Given the description of an element on the screen output the (x, y) to click on. 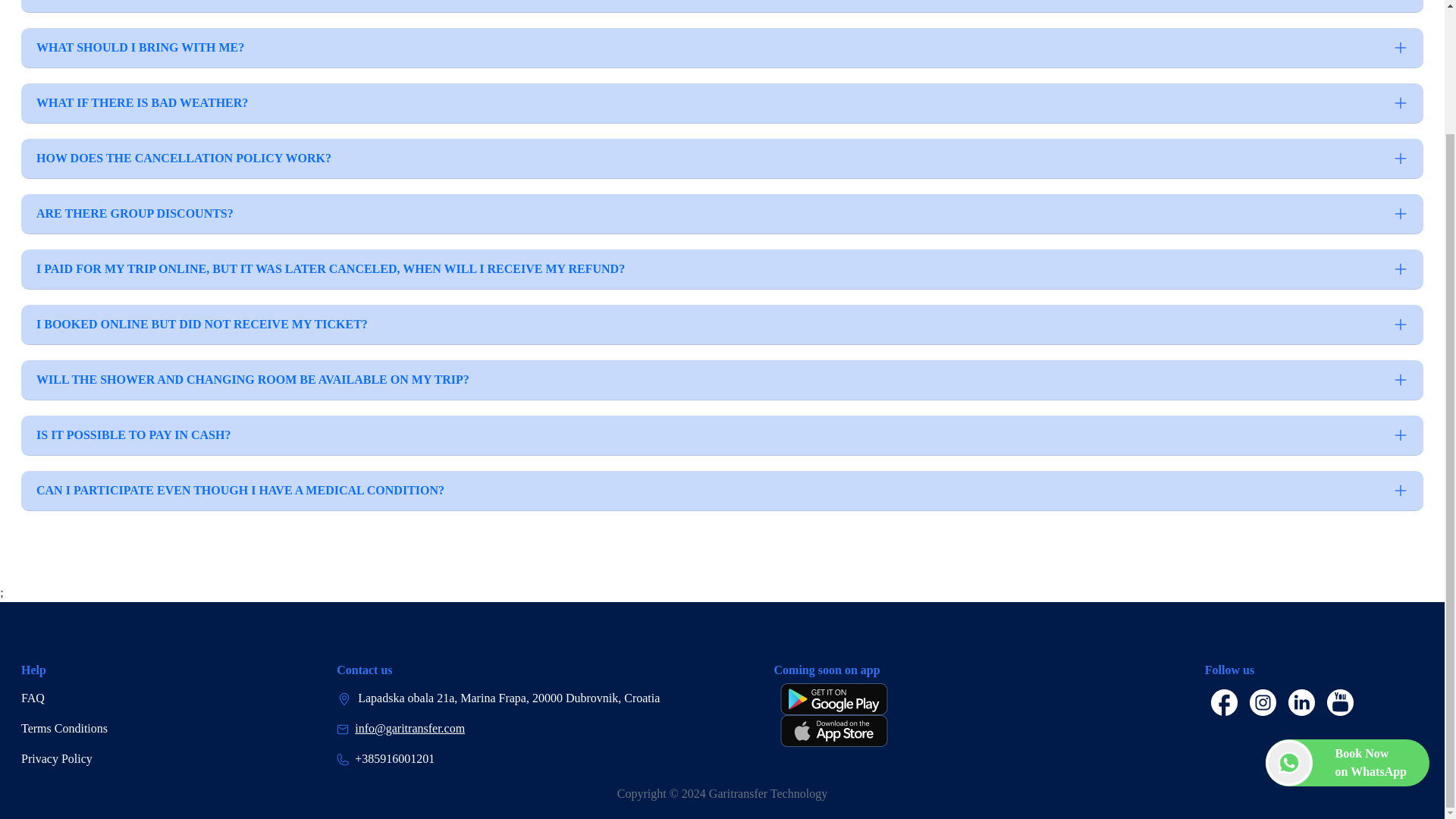
ARE THERE GROUP DISCOUNTS? (722, 214)
Privacy Policy (130, 758)
WILL THE SHOWER AND CHANGING ROOM BE AVAILABLE ON MY TRIP? (722, 380)
WHAT SHOULD I BRING WITH ME? (1347, 613)
I BOOKED ONLINE BUT DID NOT RECEIVE MY TICKET? (722, 47)
IS IT POSSIBLE TO PAY IN CASH? (722, 324)
HOW DOES THE CANCELLATION POLICY WORK? (722, 435)
WHERE CAN I PARK MY CAR? (722, 158)
Terms Conditions (130, 698)
WHAT IF THERE IS BAD WEATHER? (130, 728)
CAN I PARTICIPATE EVEN THOUGH I HAVE A MEDICAL CONDITION? (722, 103)
